Given the description of an element on the screen output the (x, y) to click on. 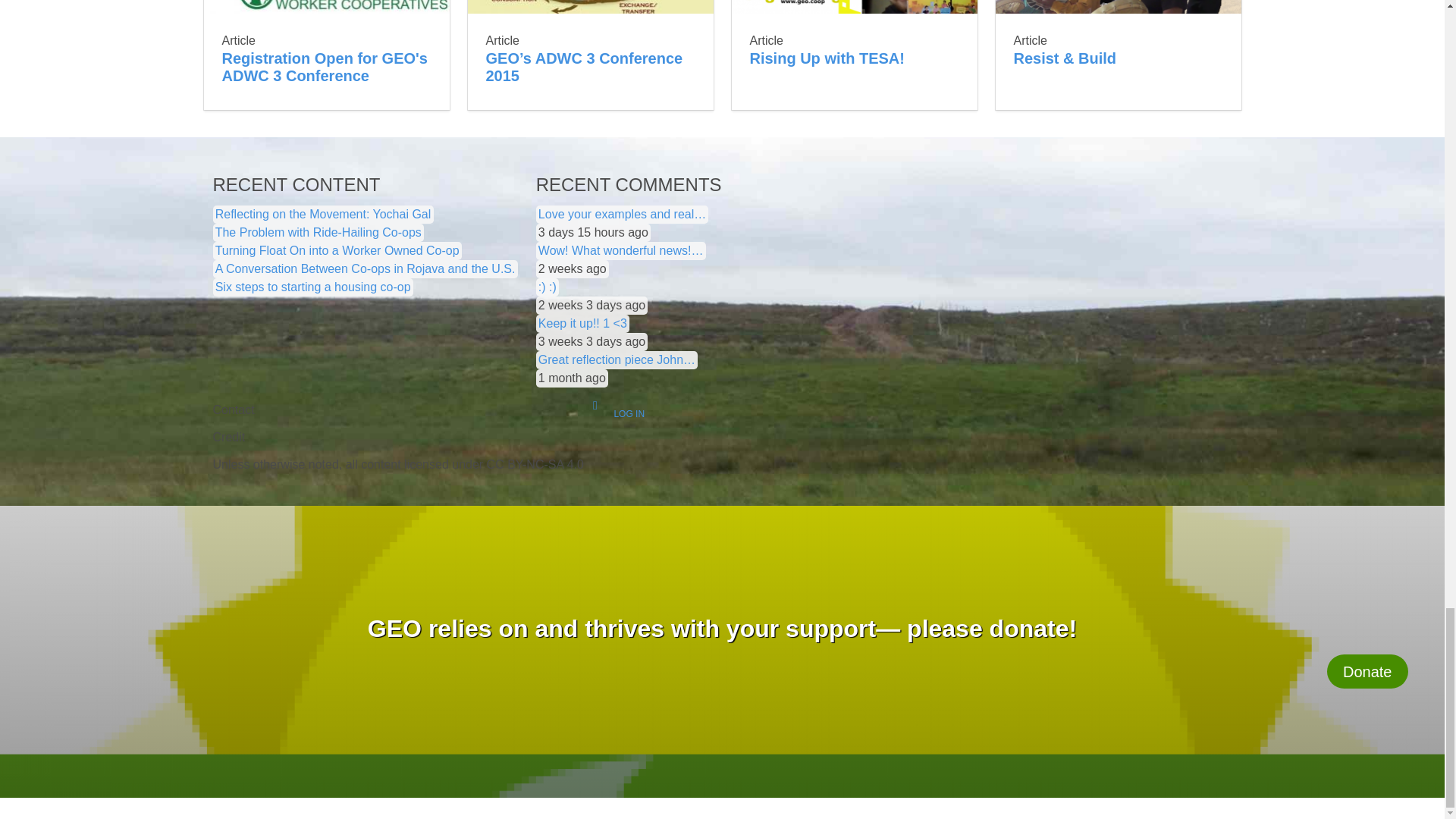
Some of the groups making this website possible. (397, 437)
